Given the description of an element on the screen output the (x, y) to click on. 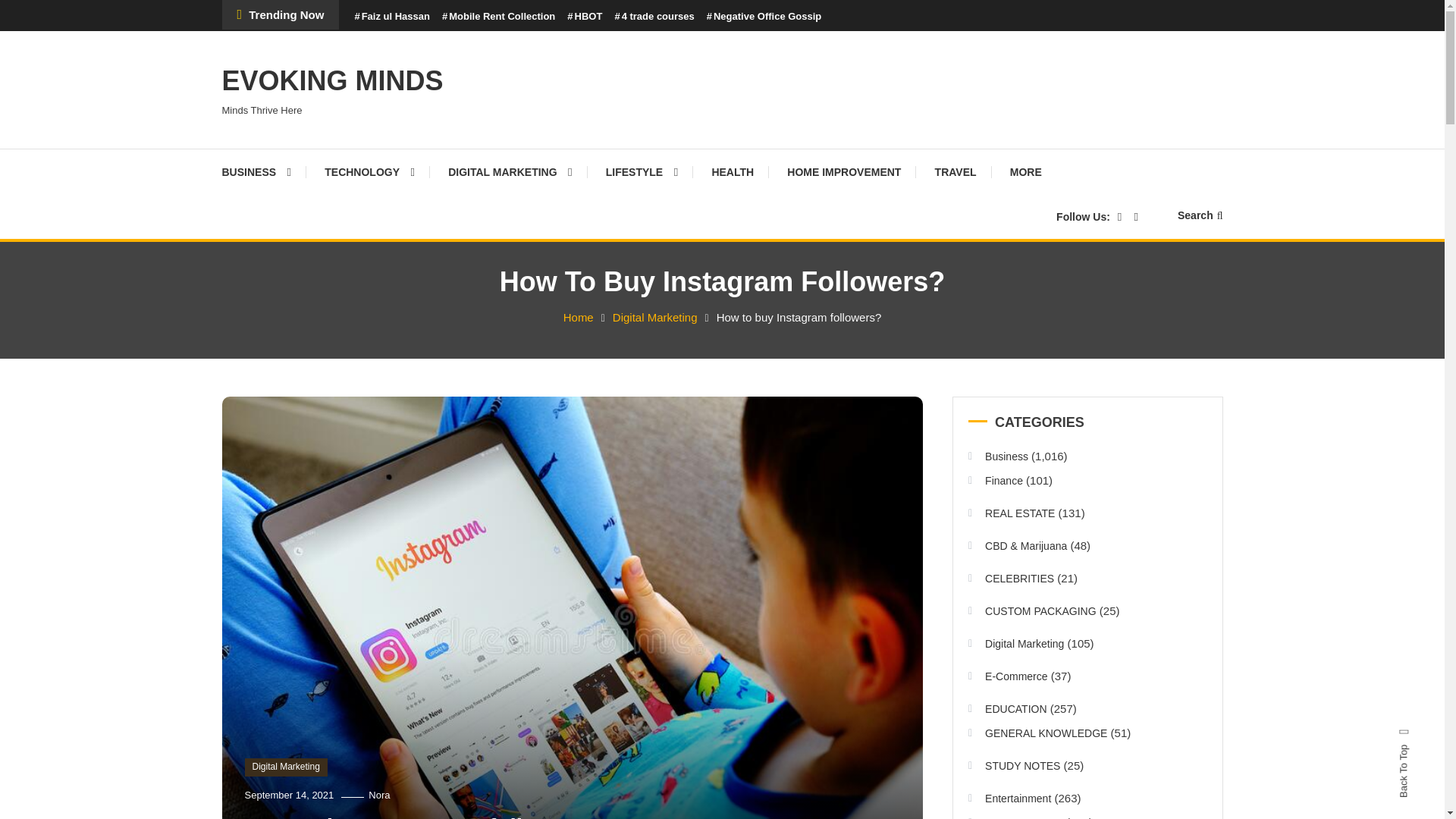
Mobile Rent Collection (498, 16)
DIGITAL MARKETING (509, 171)
EVOKING MINDS (331, 80)
HOME IMPROVEMENT (843, 171)
Search (1200, 215)
MORE (1025, 171)
HBOT (584, 16)
Search (768, 432)
4 trade courses (654, 16)
Faiz ul Hassan (391, 16)
